Given the description of an element on the screen output the (x, y) to click on. 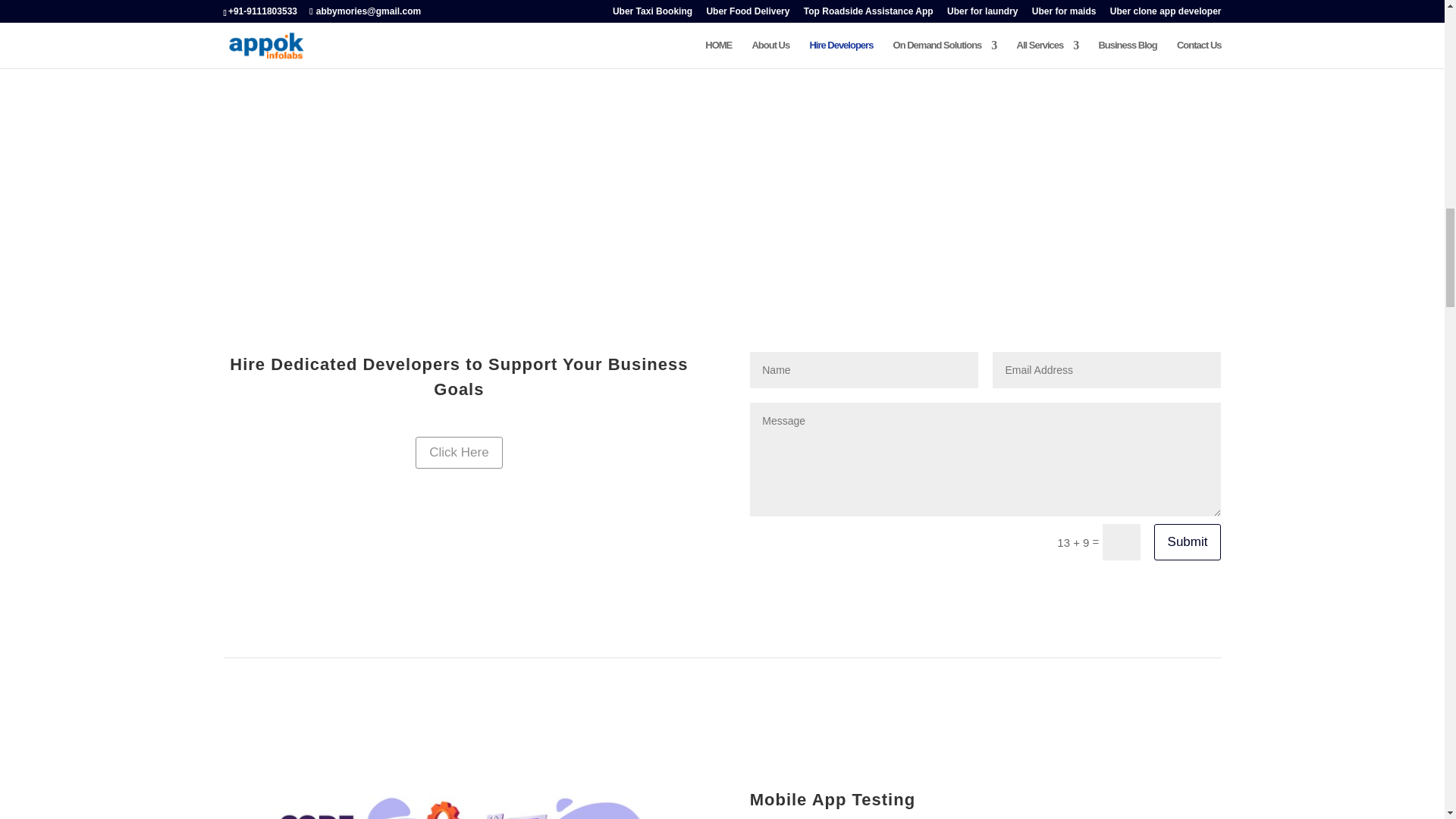
Hire-developer (458, 795)
